Given the description of an element on the screen output the (x, y) to click on. 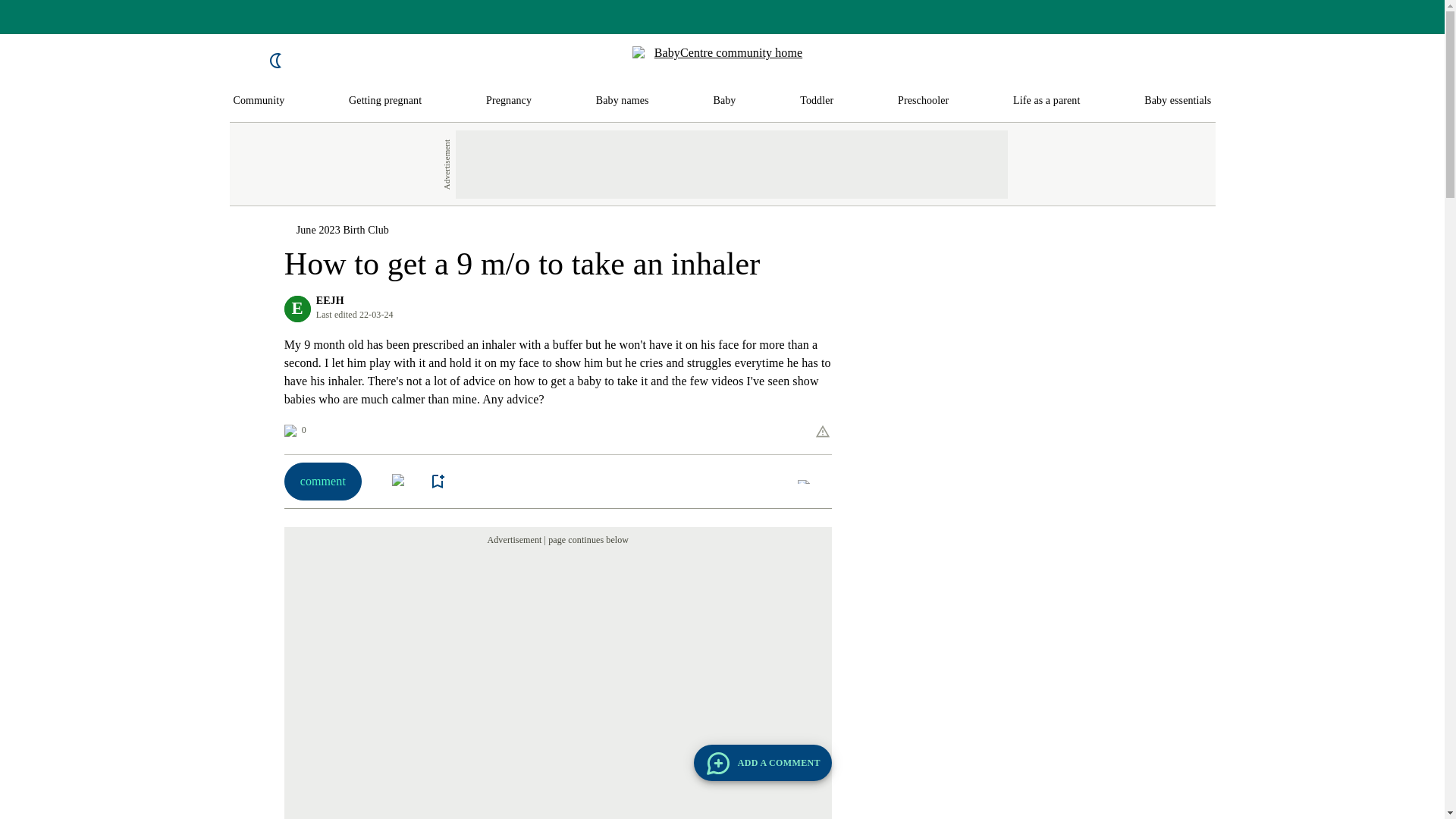
Baby essentials (1177, 101)
Preschooler (923, 101)
Toddler (815, 101)
Pregnancy (508, 101)
Community (258, 101)
Life as a parent (1046, 101)
Getting pregnant (385, 101)
Baby (724, 101)
Baby names (622, 101)
